Given the description of an element on the screen output the (x, y) to click on. 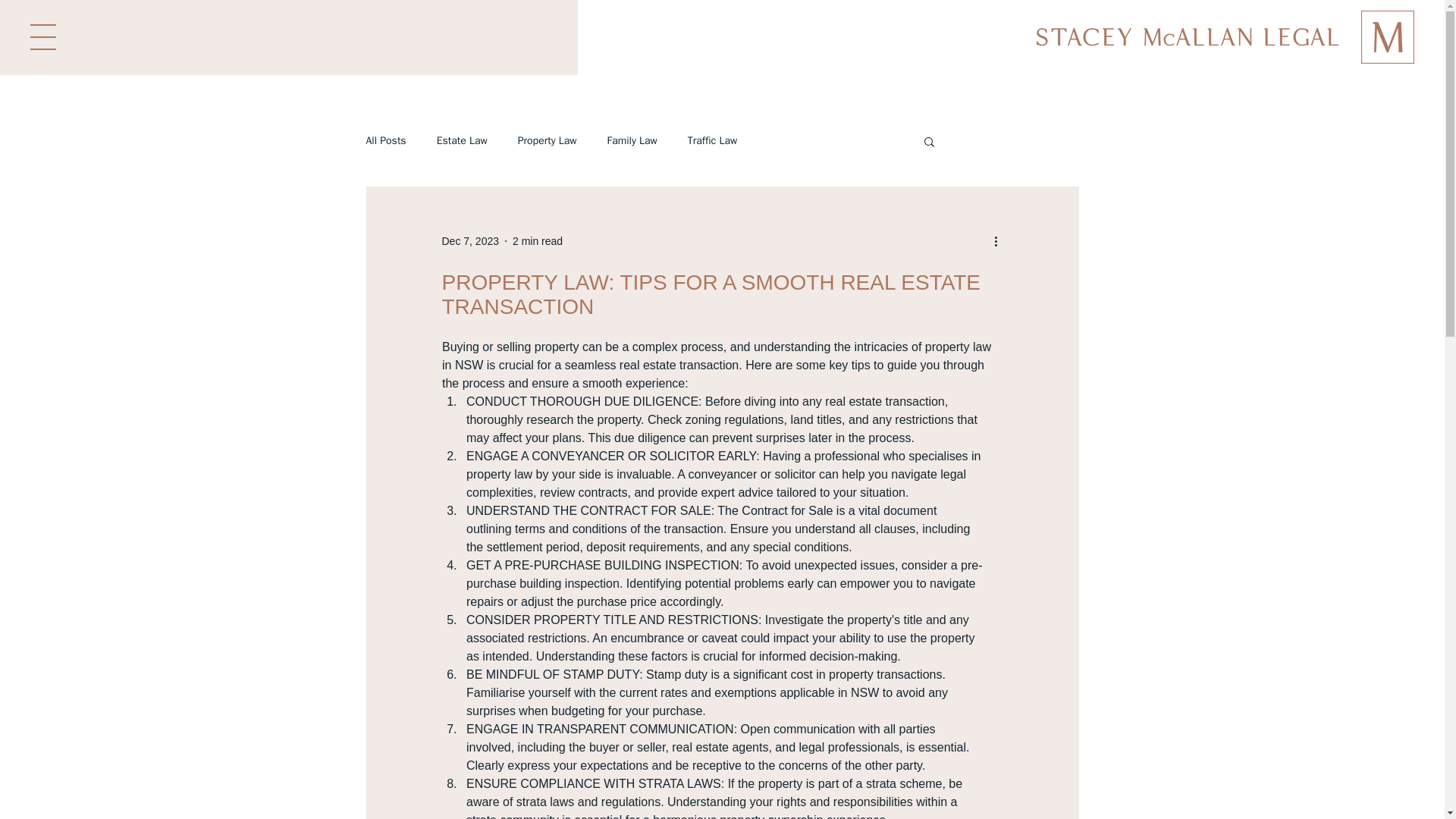
Dec 7, 2023 (470, 241)
2 min read (537, 241)
Traffic Law (711, 141)
Property Law (547, 141)
Family Law (632, 141)
Estate Law (461, 141)
All Posts (385, 141)
